Given the description of an element on the screen output the (x, y) to click on. 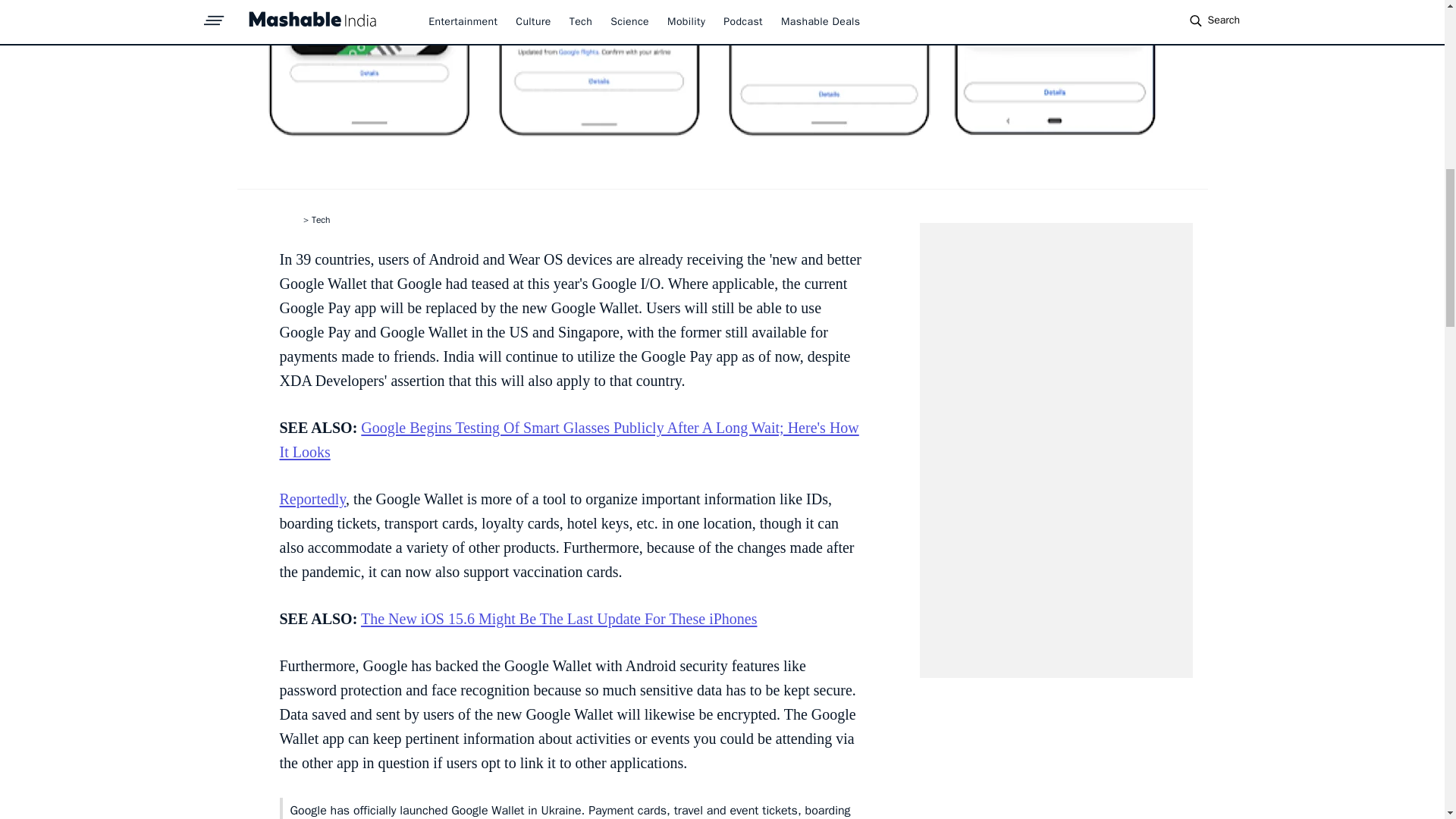
Reportedly (312, 498)
The New iOS 15.6 Might Be The Last Update For These iPhones (559, 618)
